Given the description of an element on the screen output the (x, y) to click on. 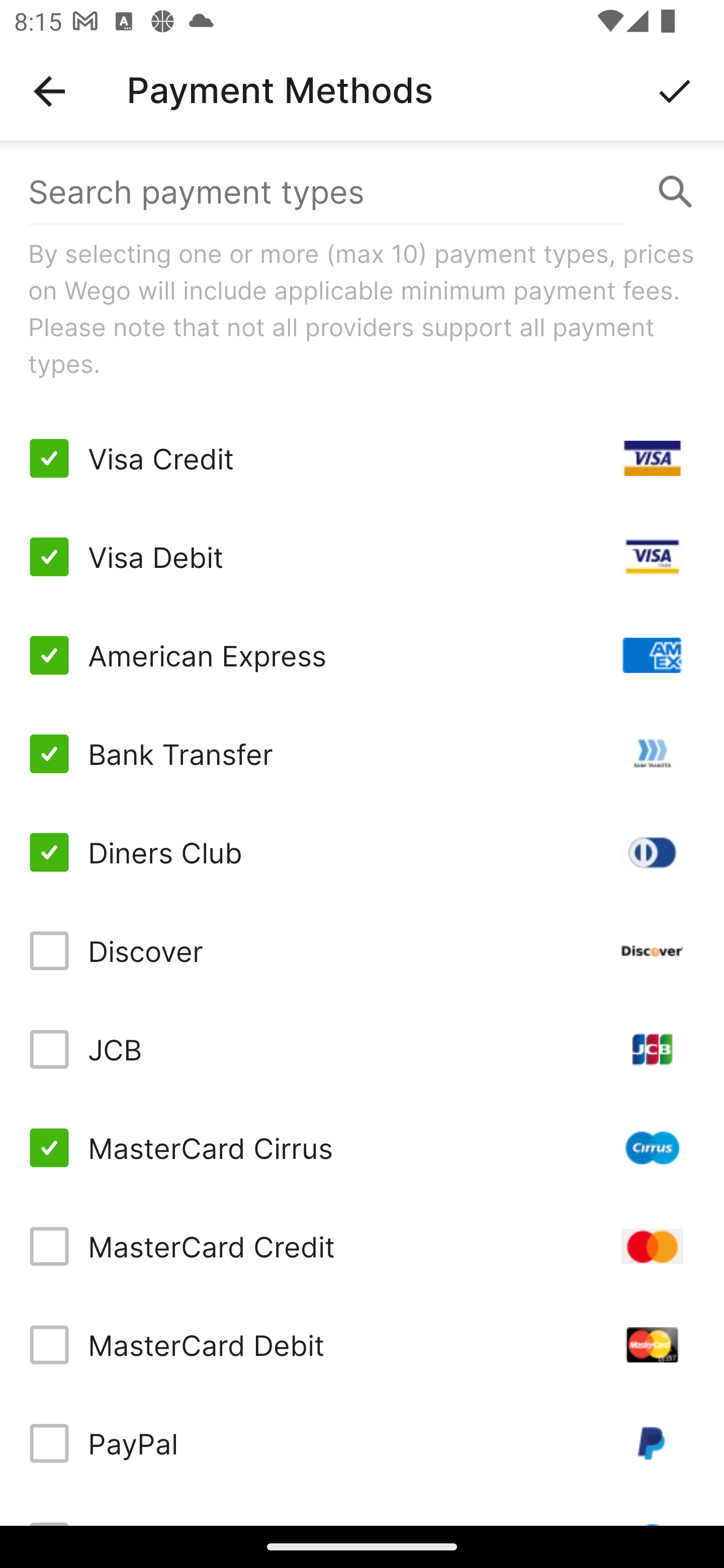
Search payment types  (361, 191)
Visa Credit (362, 458)
Visa Debit (362, 557)
American Express (362, 655)
Bank Transfer (362, 753)
Diners Club (362, 851)
Discover (362, 950)
JCB (362, 1049)
MasterCard Cirrus (362, 1147)
MasterCard Credit (362, 1245)
MasterCard Debit (362, 1344)
PayPal (362, 1442)
